Given the description of an element on the screen output the (x, y) to click on. 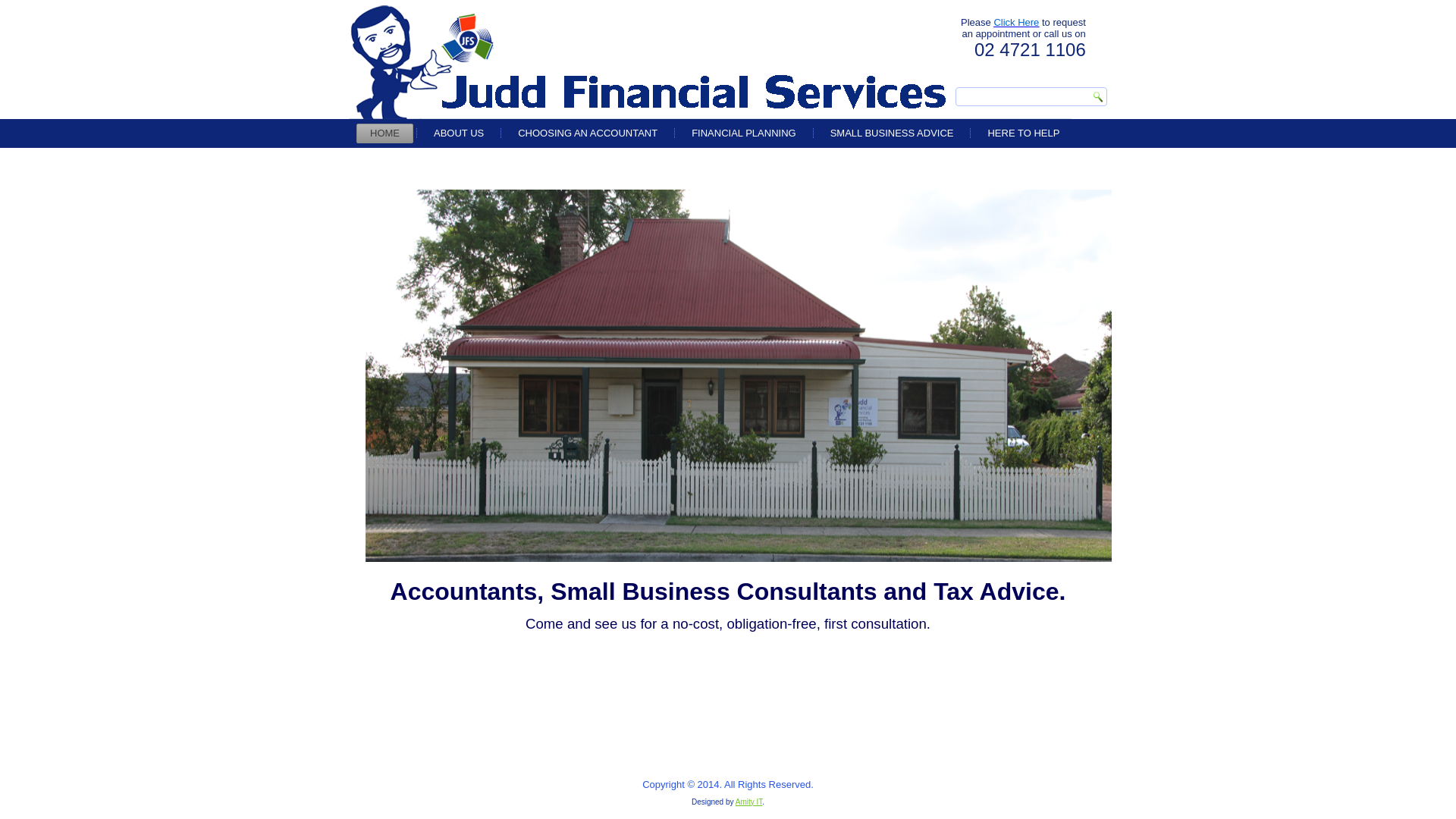
SMALL BUSINESS ADVICE Element type: text (891, 133)
Amity IT Element type: text (748, 801)
FINANCIAL PLANNING Element type: text (743, 133)
HOME Element type: text (384, 133)
Click Here Element type: text (1015, 22)
ABOUT US Element type: text (458, 133)
HERE TO HELP Element type: text (1023, 133)
CHOOSING AN ACCOUNTANT Element type: text (587, 133)
